Given the description of an element on the screen output the (x, y) to click on. 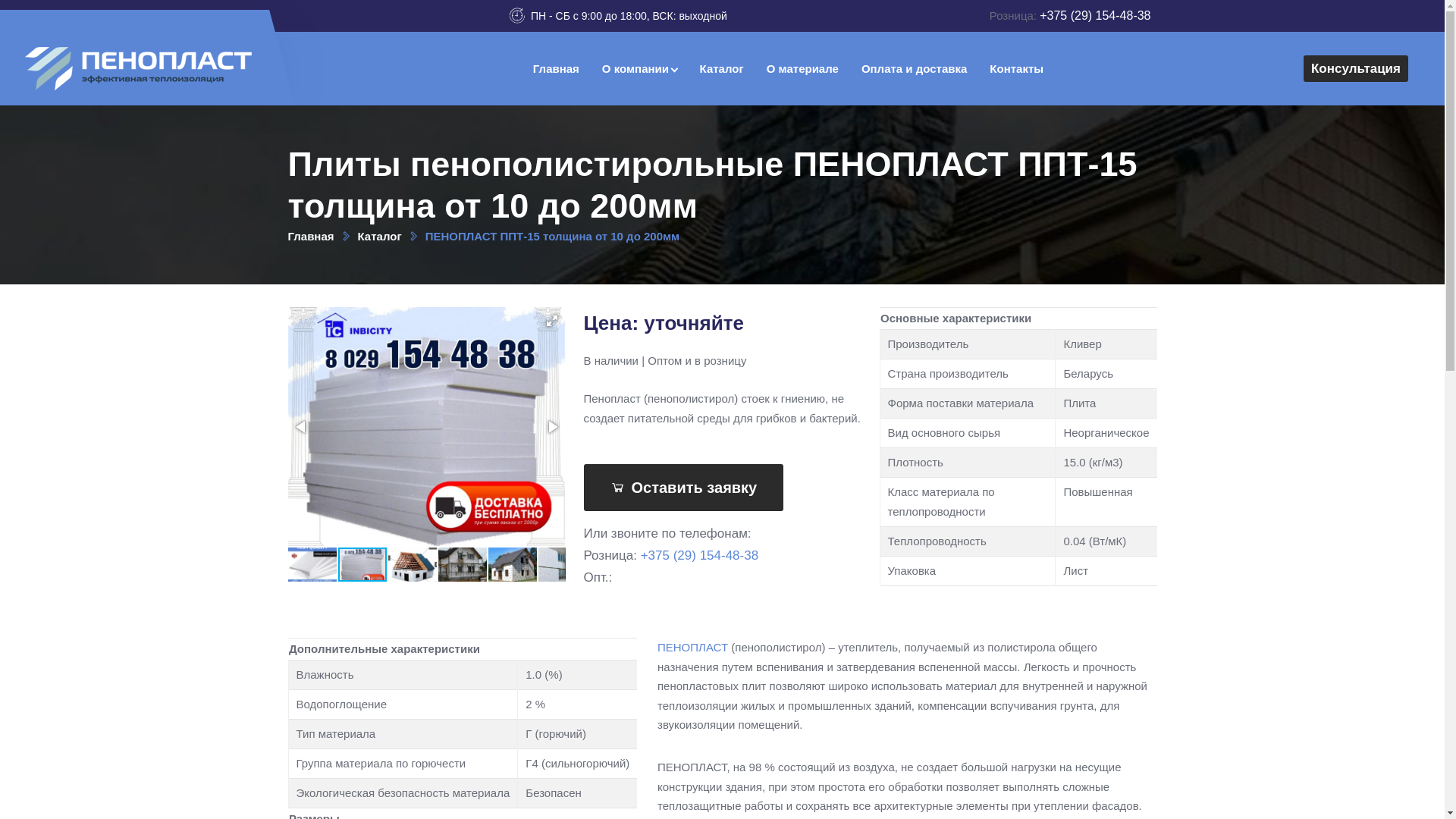
penoplast02 Element type: hover (426, 426)
gallery02 Element type: hover (512, 563)
+375 (29) 154-48-38 Element type: text (699, 555)
penoplast02 Element type: hover (362, 563)
gallery01 Element type: hover (462, 563)
gallery06 Element type: hover (562, 563)
penoplast03 Element type: hover (412, 563)
+375 (29) 154-48-38 Element type: text (1094, 15)
penoplast011 Element type: hover (312, 563)
